Given the description of an element on the screen output the (x, y) to click on. 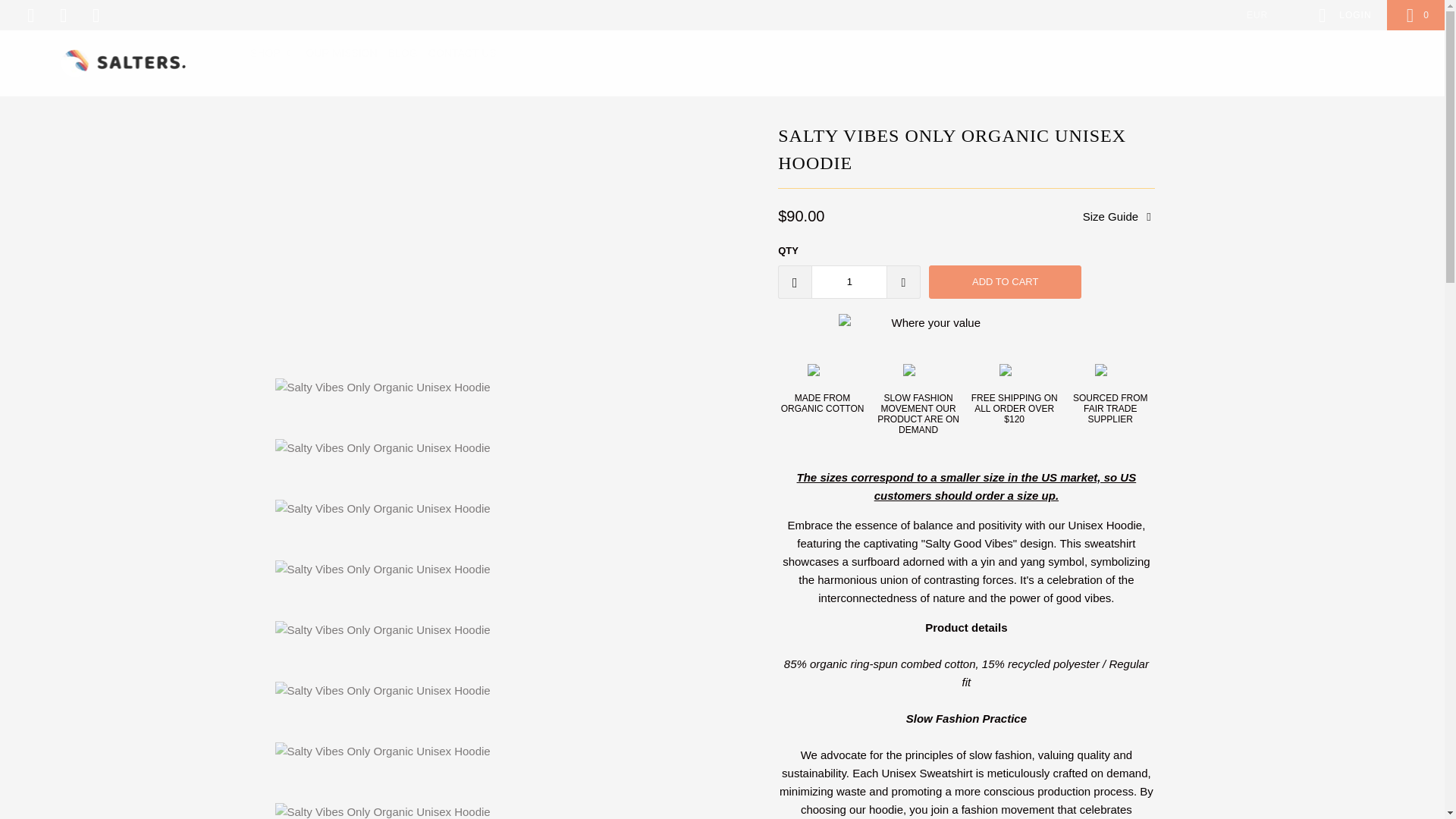
Salters Surf Shop on Instagram (62, 14)
CONTACT US (462, 53)
Salters Surf Shop on Pinterest (29, 14)
OUR MISSION (341, 53)
SHOP (272, 53)
1 (848, 281)
My Account  (1342, 15)
Salters Surf Shop (122, 63)
LOGIN (1342, 15)
Email Salters Surf Shop (95, 14)
